Given the description of an element on the screen output the (x, y) to click on. 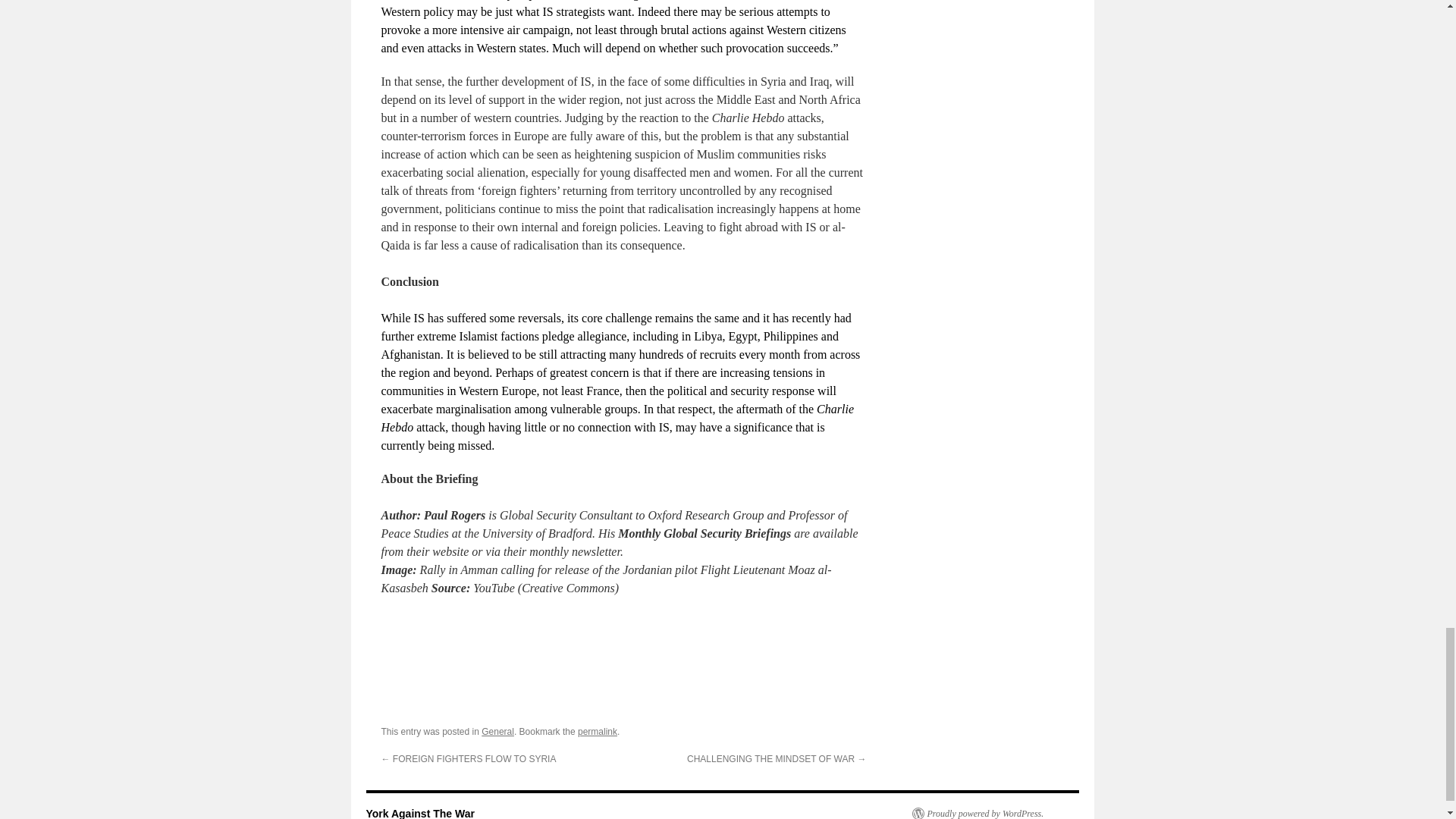
Permalink to IS ISLAMIC STATE IN RETREAT ? (597, 731)
General (497, 731)
permalink (597, 731)
